Given the description of an element on the screen output the (x, y) to click on. 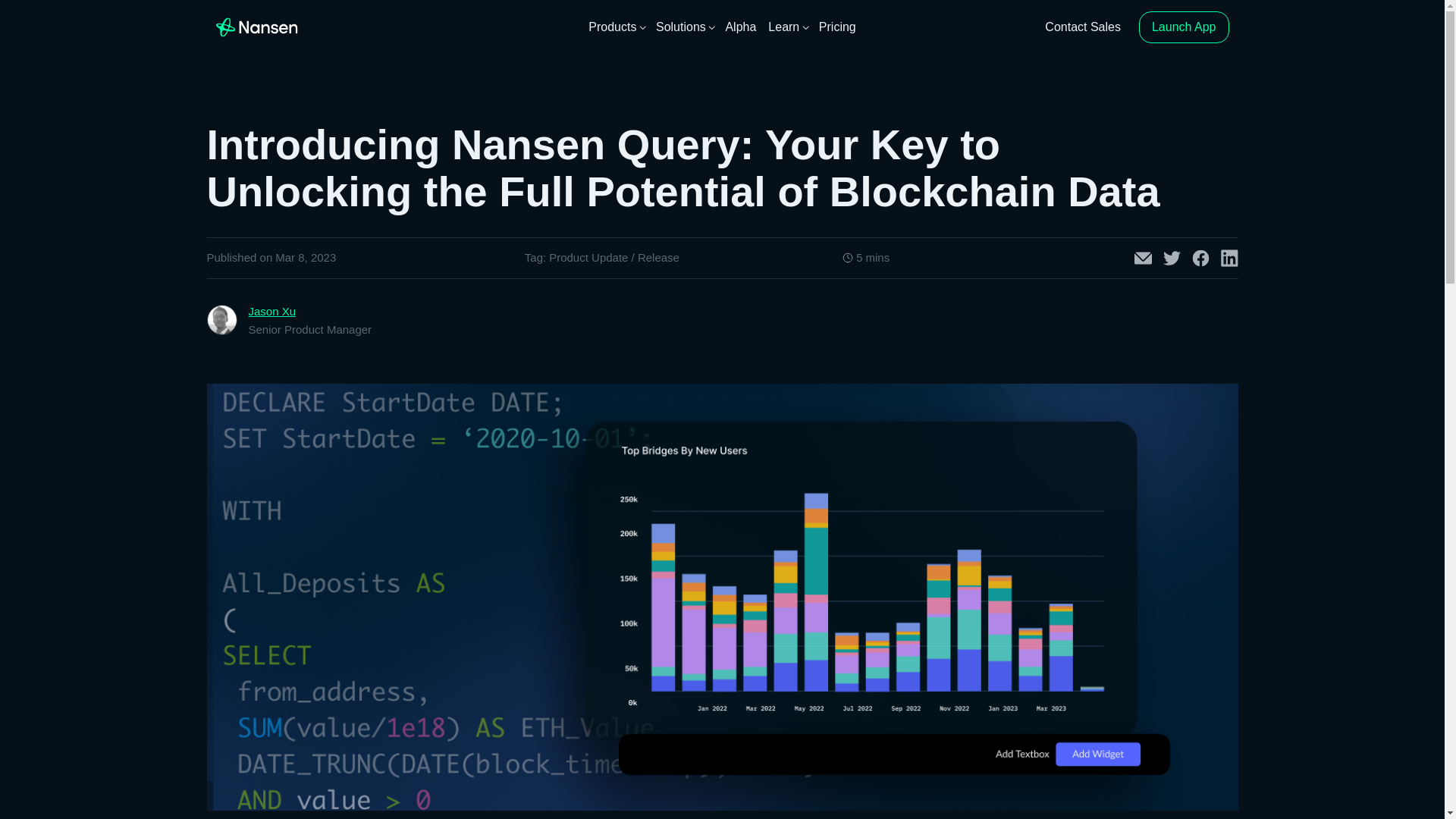
Tweet (1171, 257)
Launch App (1183, 27)
Alpha (740, 27)
Share on Facebook (1200, 257)
Pricing (836, 27)
Jason Xu (272, 310)
Share on LinkedIn (1230, 257)
Contact Sales (1083, 27)
